Given the description of an element on the screen output the (x, y) to click on. 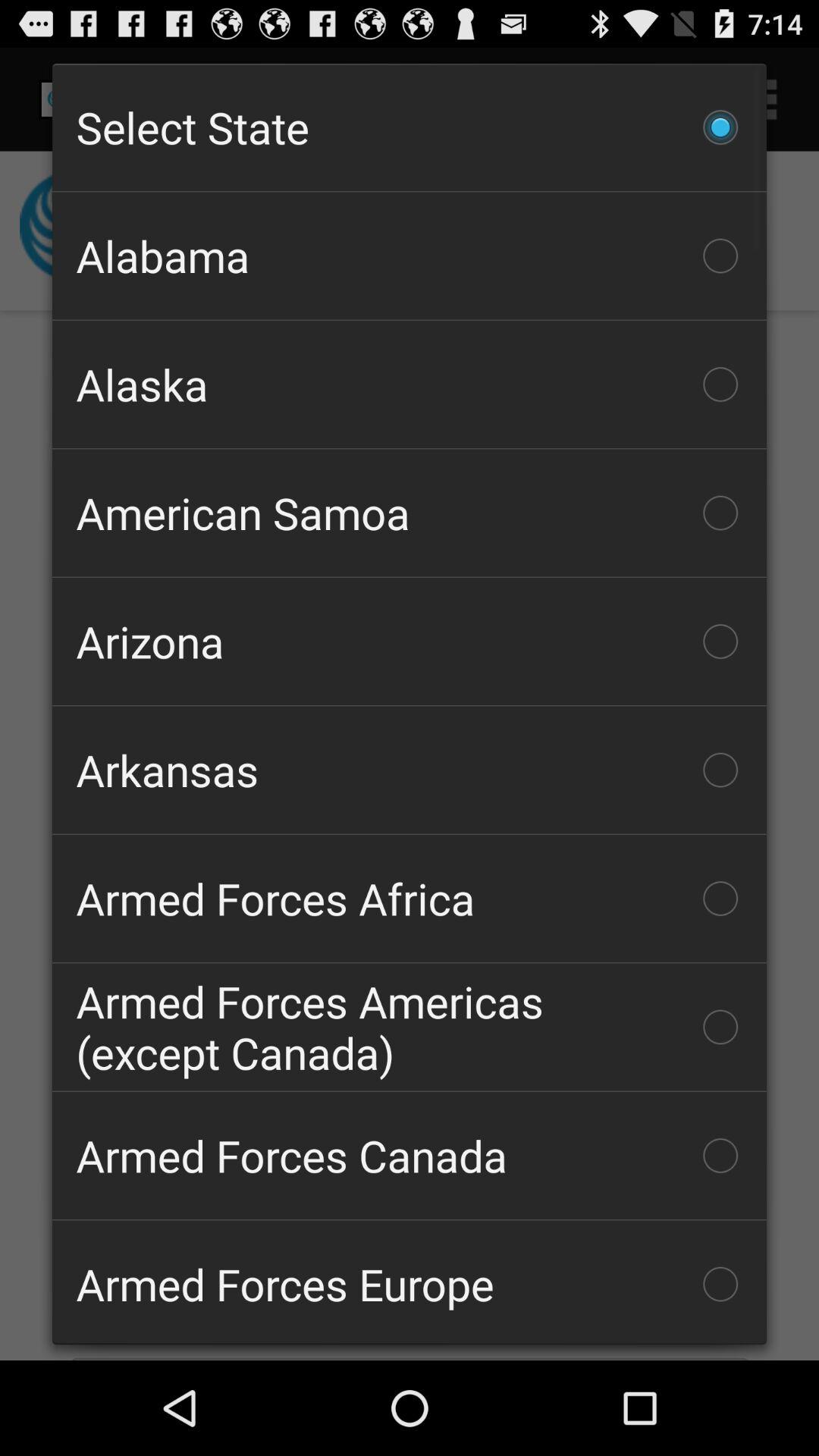
open the item above arizona (409, 512)
